Given the description of an element on the screen output the (x, y) to click on. 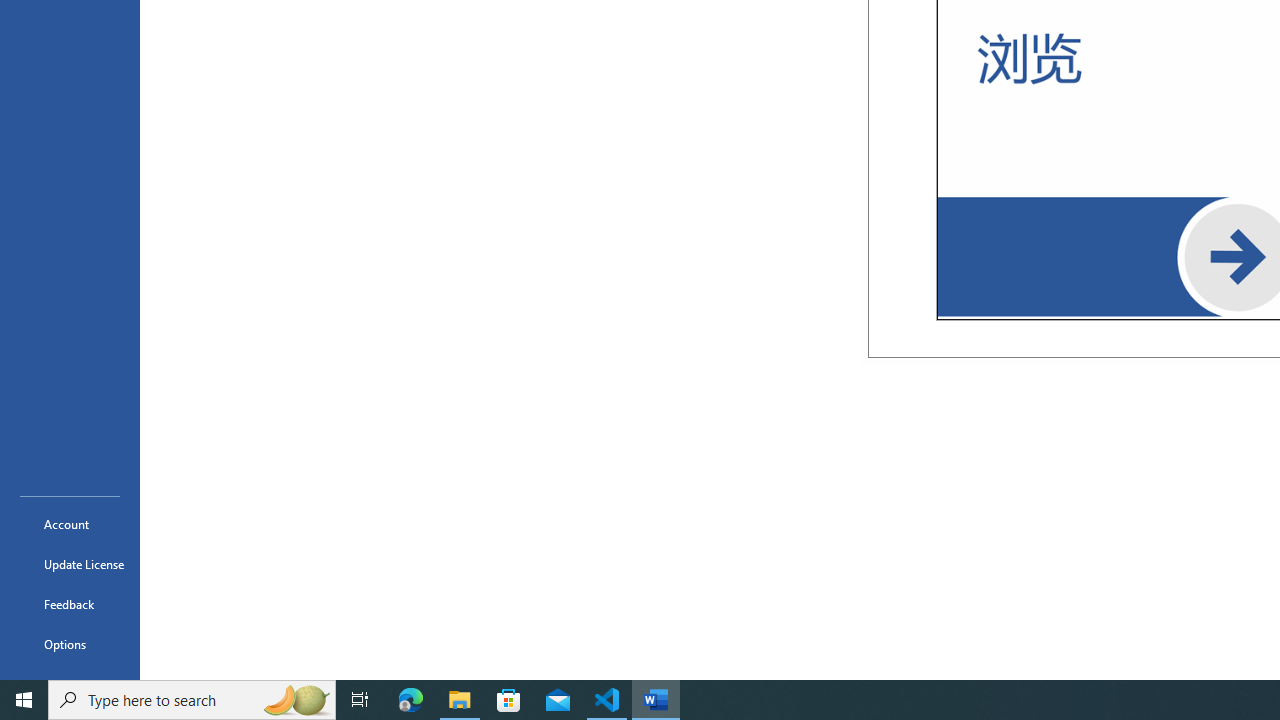
Feedback (69, 603)
Account (69, 523)
Update License (69, 563)
Options (69, 643)
